Given the description of an element on the screen output the (x, y) to click on. 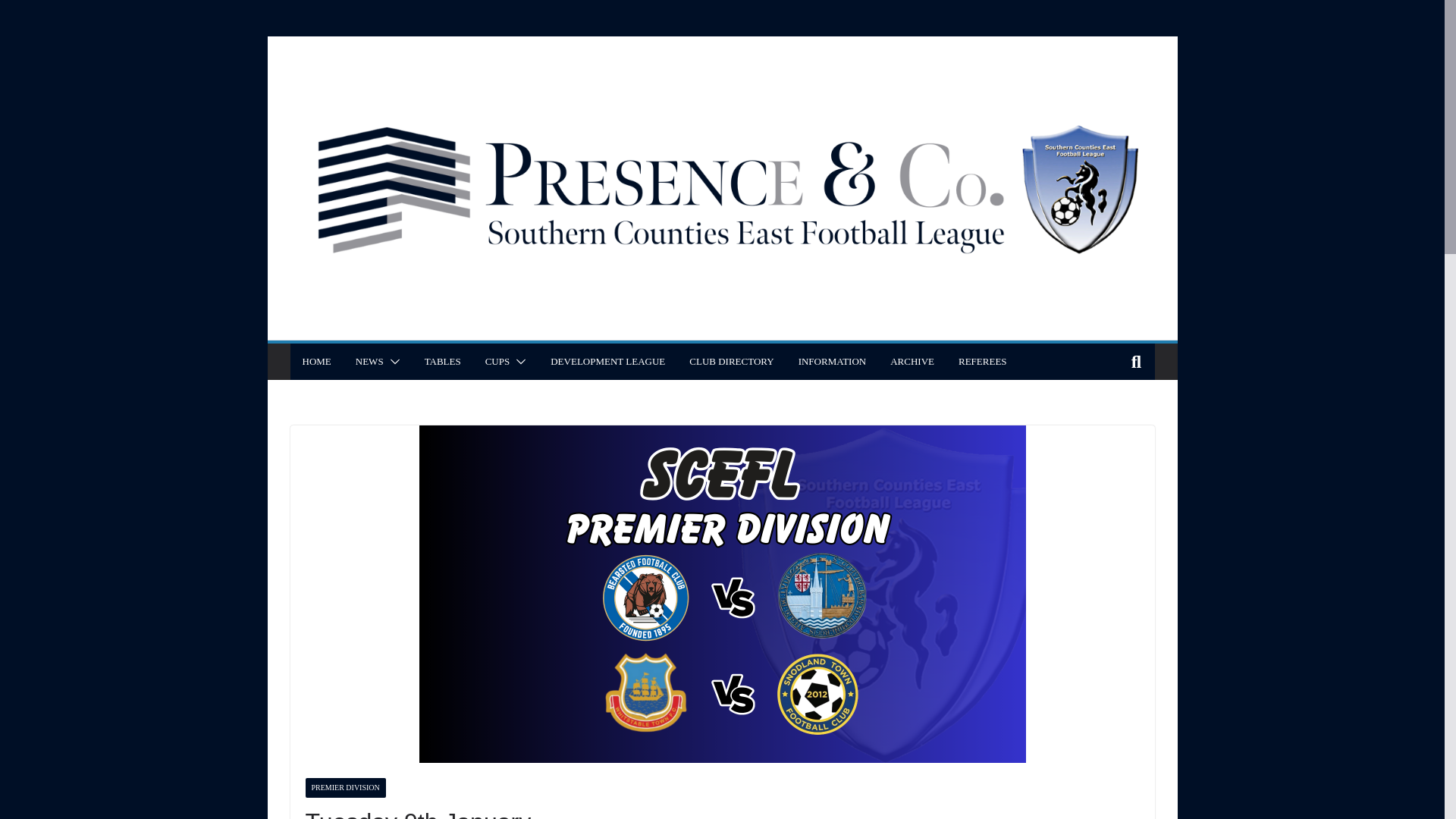
PREMIER DIVISION (344, 787)
NEWS (369, 361)
CUPS (497, 361)
CLUB DIRECTORY (730, 361)
TABLES (443, 361)
REFEREES (982, 361)
DEVELOPMENT LEAGUE (607, 361)
SCEFL (721, 46)
ARCHIVE (911, 361)
INFORMATION (831, 361)
HOME (315, 361)
